Given the description of an element on the screen output the (x, y) to click on. 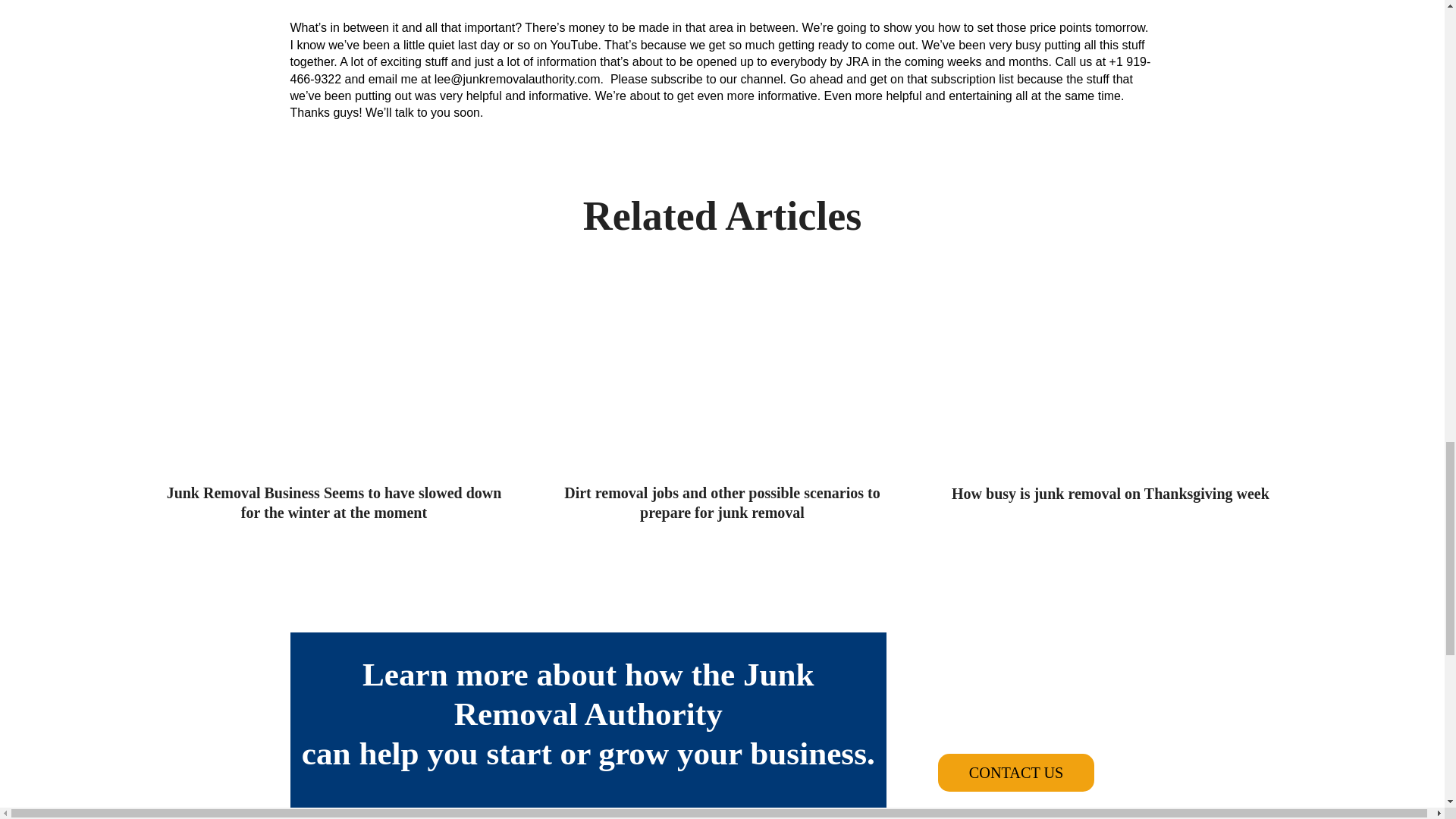
How busy is junk removal on Thanksgiving week (1109, 393)
CONTACT US (1015, 772)
